Given the description of an element on the screen output the (x, y) to click on. 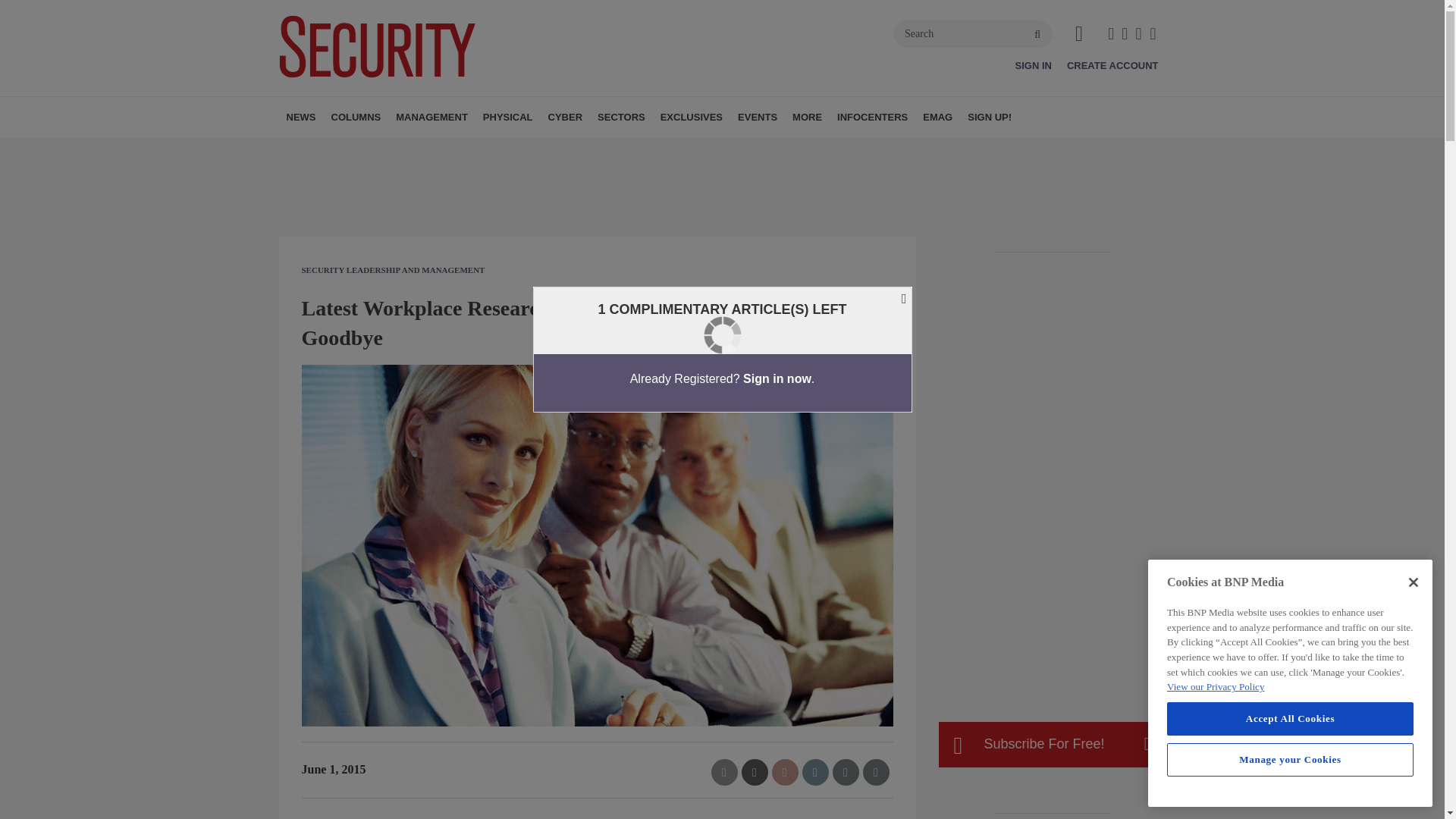
Search (972, 33)
Search (972, 33)
